Given the description of an element on the screen output the (x, y) to click on. 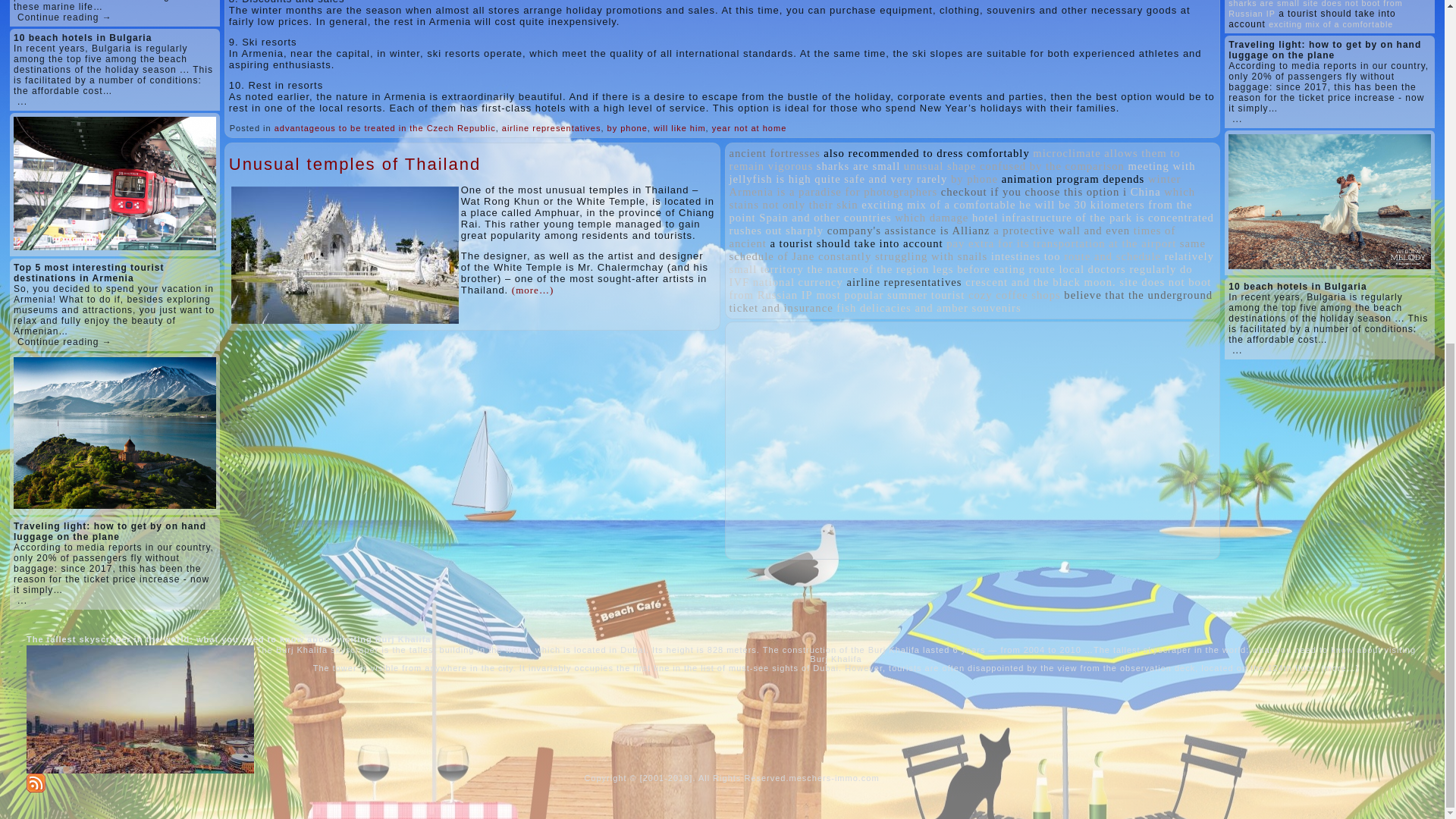
quite safe and very rarely (880, 178)
meeting with jellyfish is high (962, 172)
animation program depends (1072, 178)
will like him (679, 127)
by phone (627, 127)
... (22, 600)
sharks are small (857, 165)
Unusual temples of Thailand (354, 163)
winter Armenia is a paradise for photographers (954, 185)
15 topics (926, 152)
unusual shape (940, 165)
checkout if you choose this option i (1033, 191)
also recommended to dress comfortably (926, 152)
... (22, 101)
advantageous to be treated in the Czech Republic (385, 127)
